Given the description of an element on the screen output the (x, y) to click on. 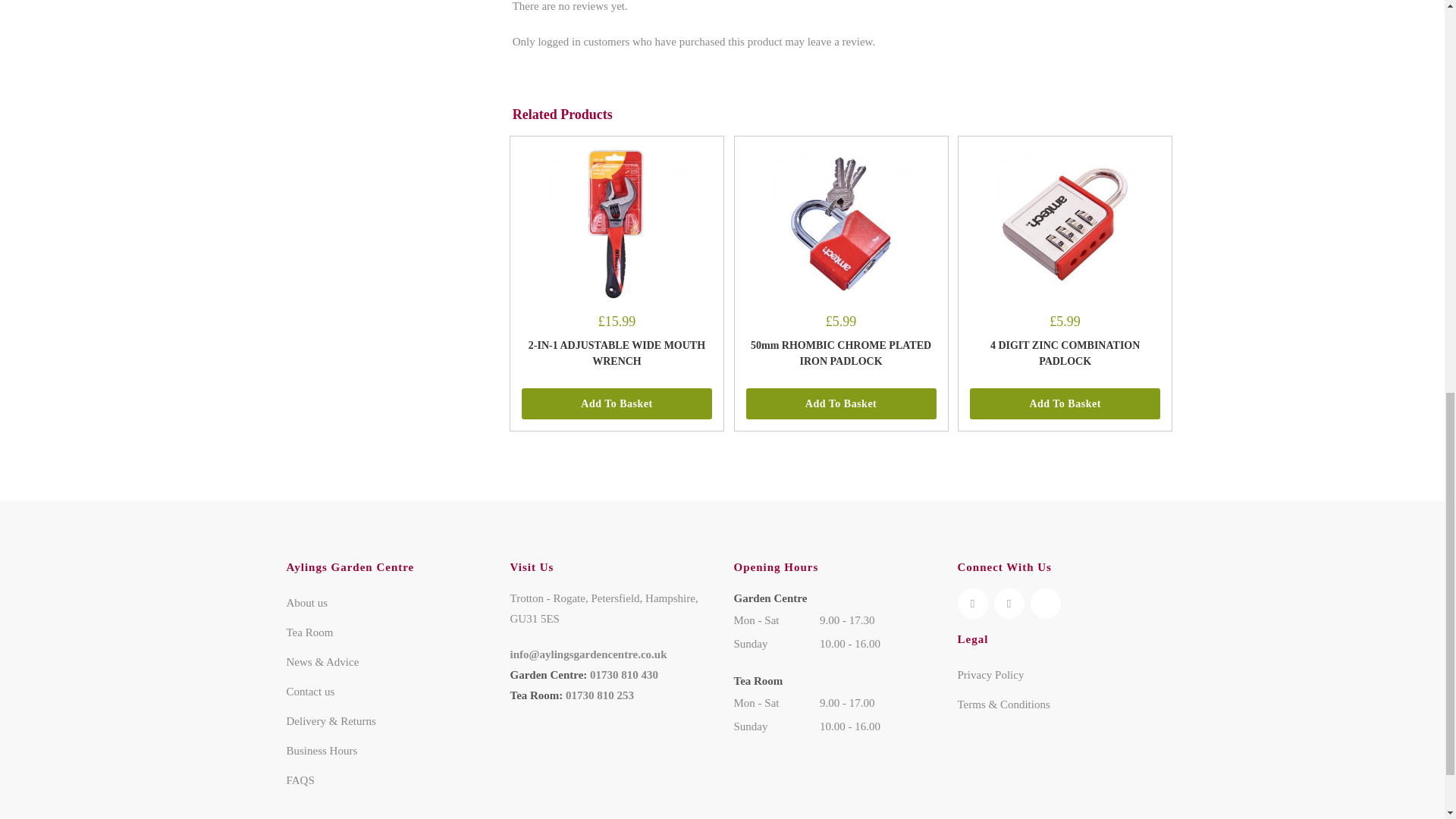
4 DIGIT ZINC COMBINATION PADLOCK (1065, 223)
50mm RHOMBIC CHROME PLATED IRON PADLOCK (841, 223)
2-IN-1 ADJUSTABLE WIDE MOUTH WRENCH (616, 223)
